Given the description of an element on the screen output the (x, y) to click on. 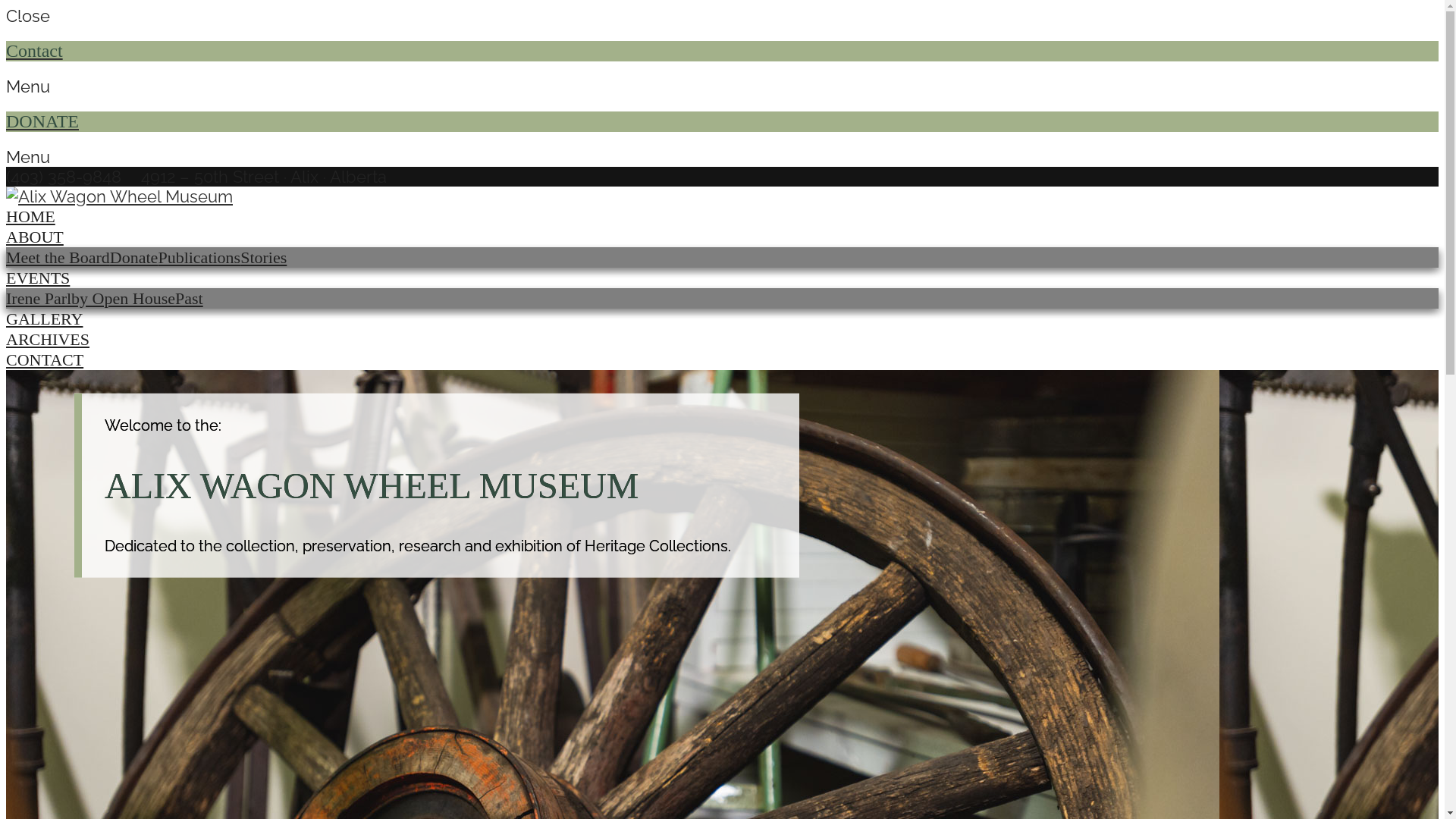
HOME Element type: text (30, 216)
EVENTS Element type: text (37, 277)
Past Element type: text (189, 297)
Meet the Board Element type: text (57, 256)
ABOUT Element type: text (34, 236)
DONATE Element type: text (722, 121)
GALLERY Element type: text (44, 318)
ARCHIVES Element type: text (47, 338)
Stories Element type: text (263, 256)
Menu Element type: text (722, 156)
Publications Element type: text (198, 256)
CONTACT Element type: text (44, 359)
Close Element type: text (722, 15)
Contact Element type: text (722, 50)
Irene Parlby Open House Element type: text (90, 297)
Menu Element type: text (722, 86)
Donate Element type: text (133, 256)
